Given the description of an element on the screen output the (x, y) to click on. 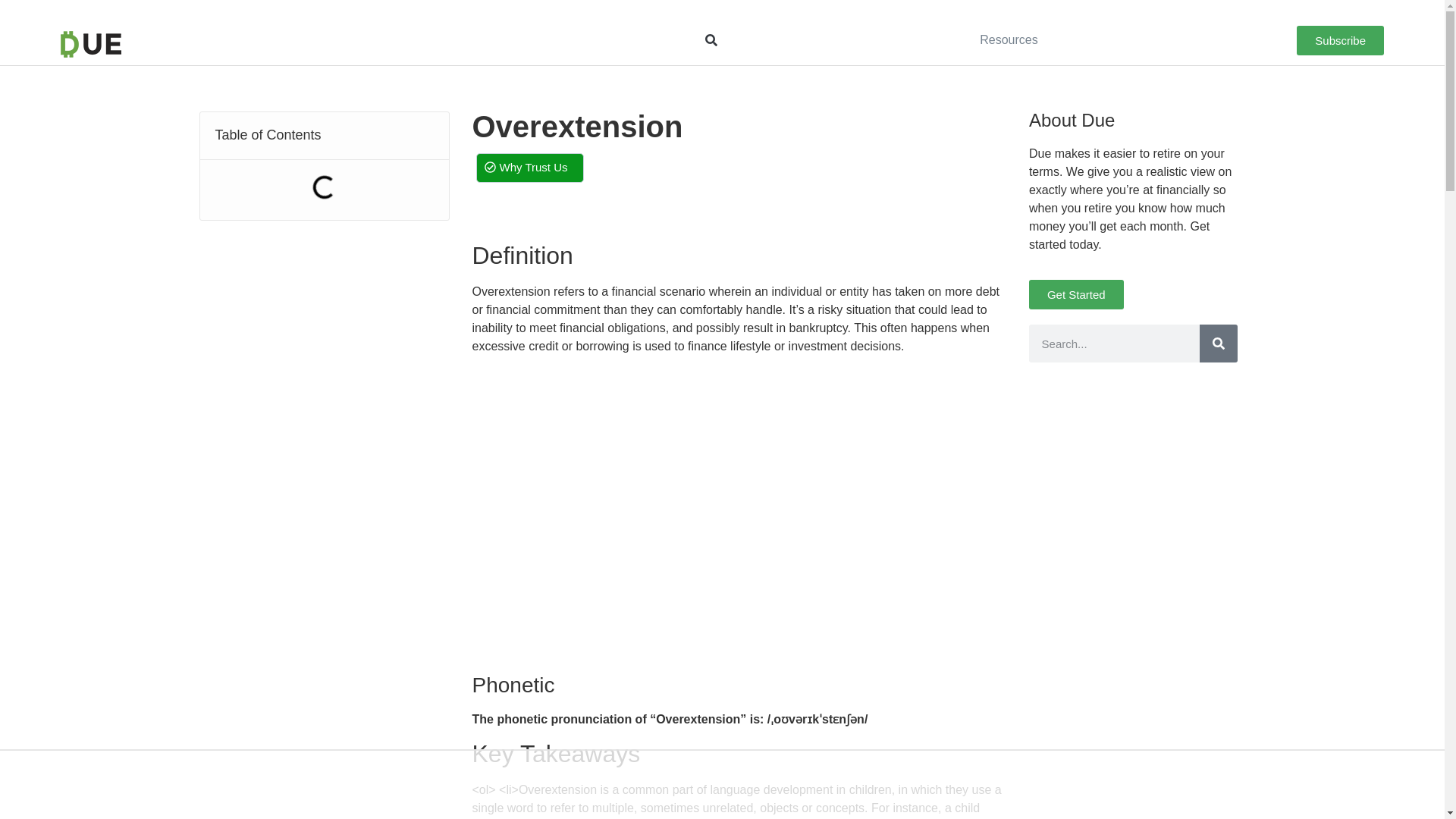
Subscribe (1340, 40)
Get Started (1076, 294)
Resources (1007, 39)
Why Trust Us (529, 167)
